Given the description of an element on the screen output the (x, y) to click on. 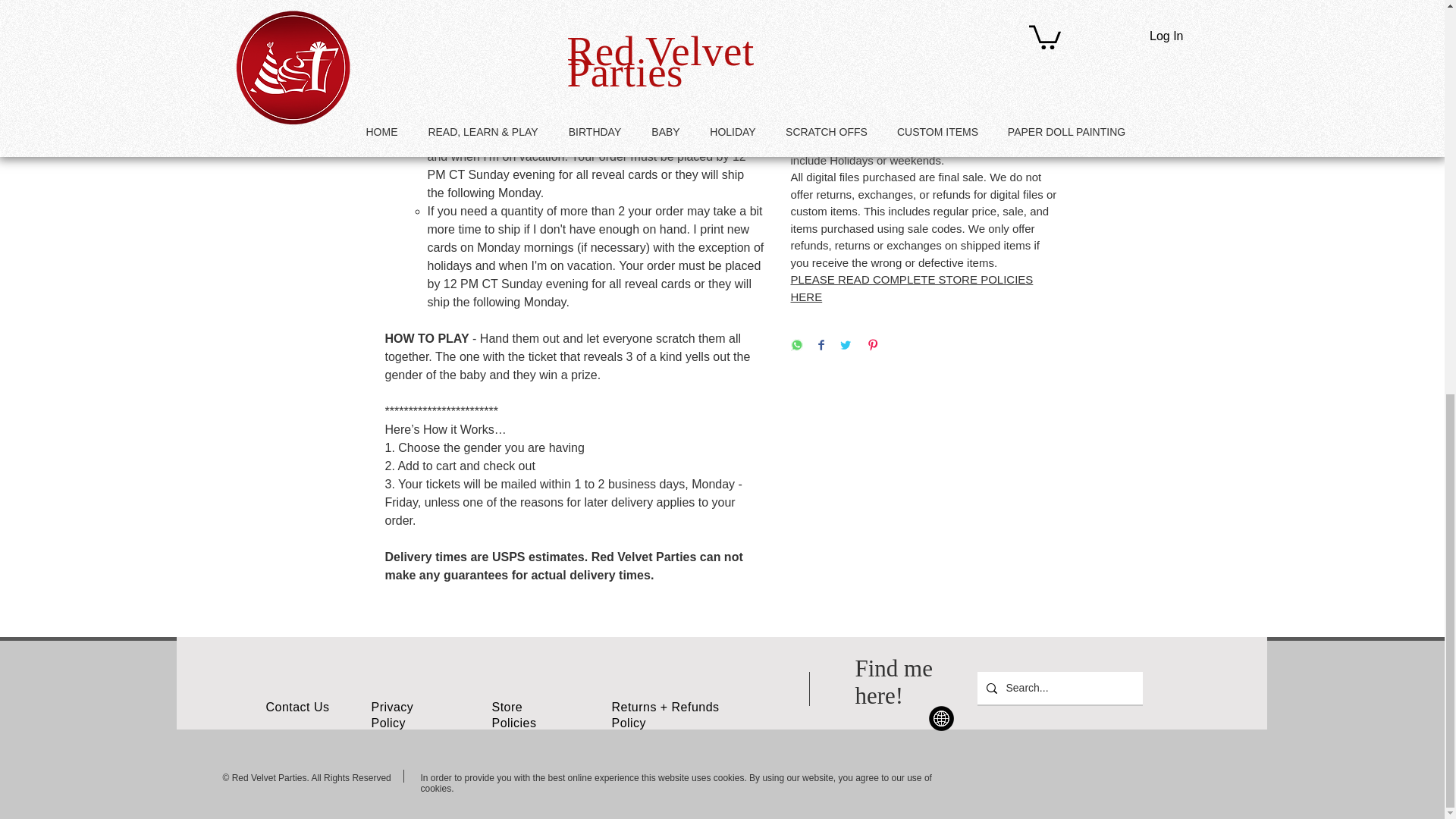
Juneteenth Unity Games (940, 718)
PLEASE READ COMPLETE STORE POLICIES HERE (911, 287)
